Given the description of an element on the screen output the (x, y) to click on. 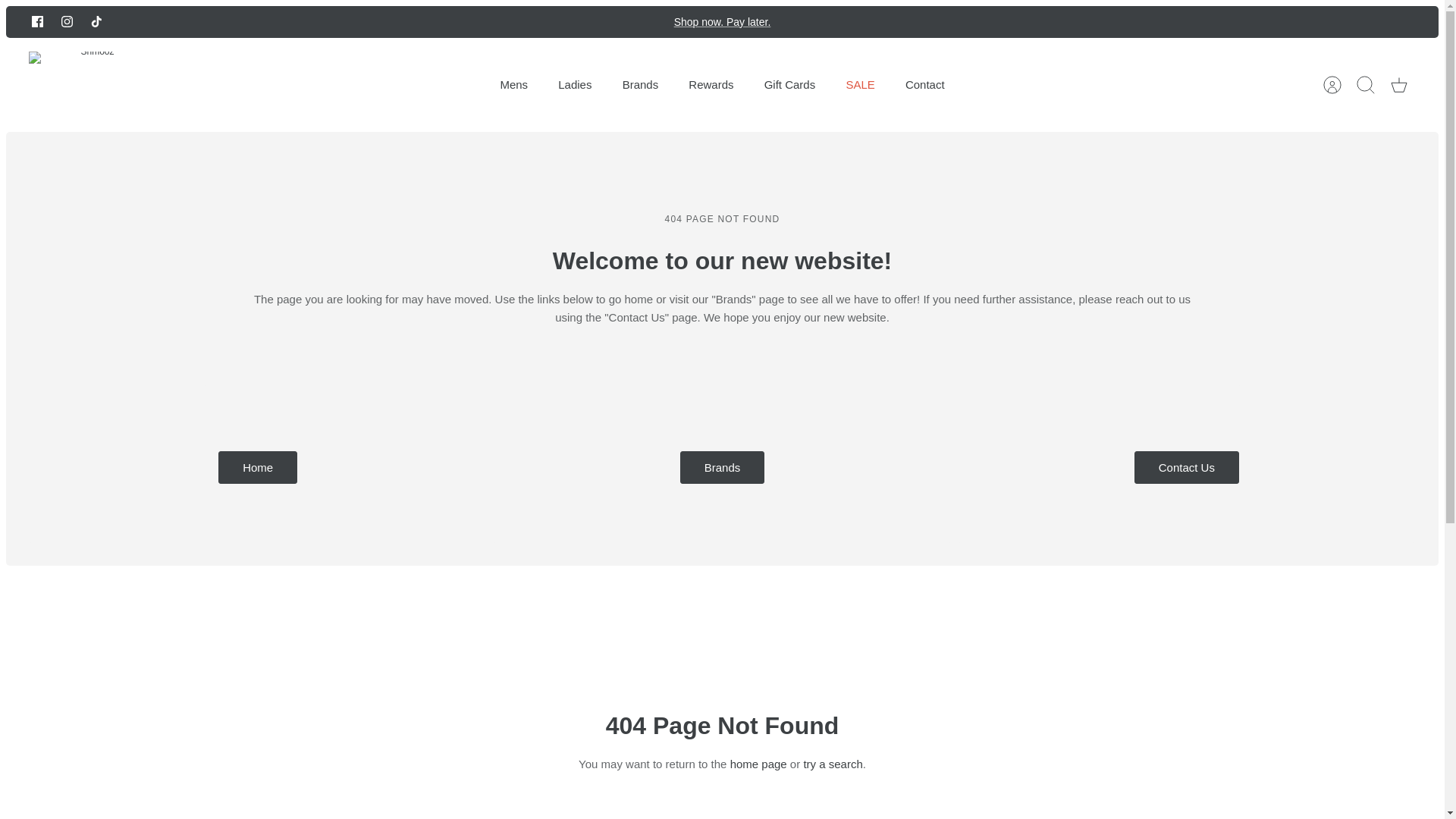
Shop now. Pay later. (722, 21)
Shop Now. Pay Later. (722, 21)
Mens (513, 85)
Instagram (66, 21)
Instagram (66, 21)
Facebook (37, 21)
Shmooz (91, 84)
Facebook (37, 21)
